Given the description of an element on the screen output the (x, y) to click on. 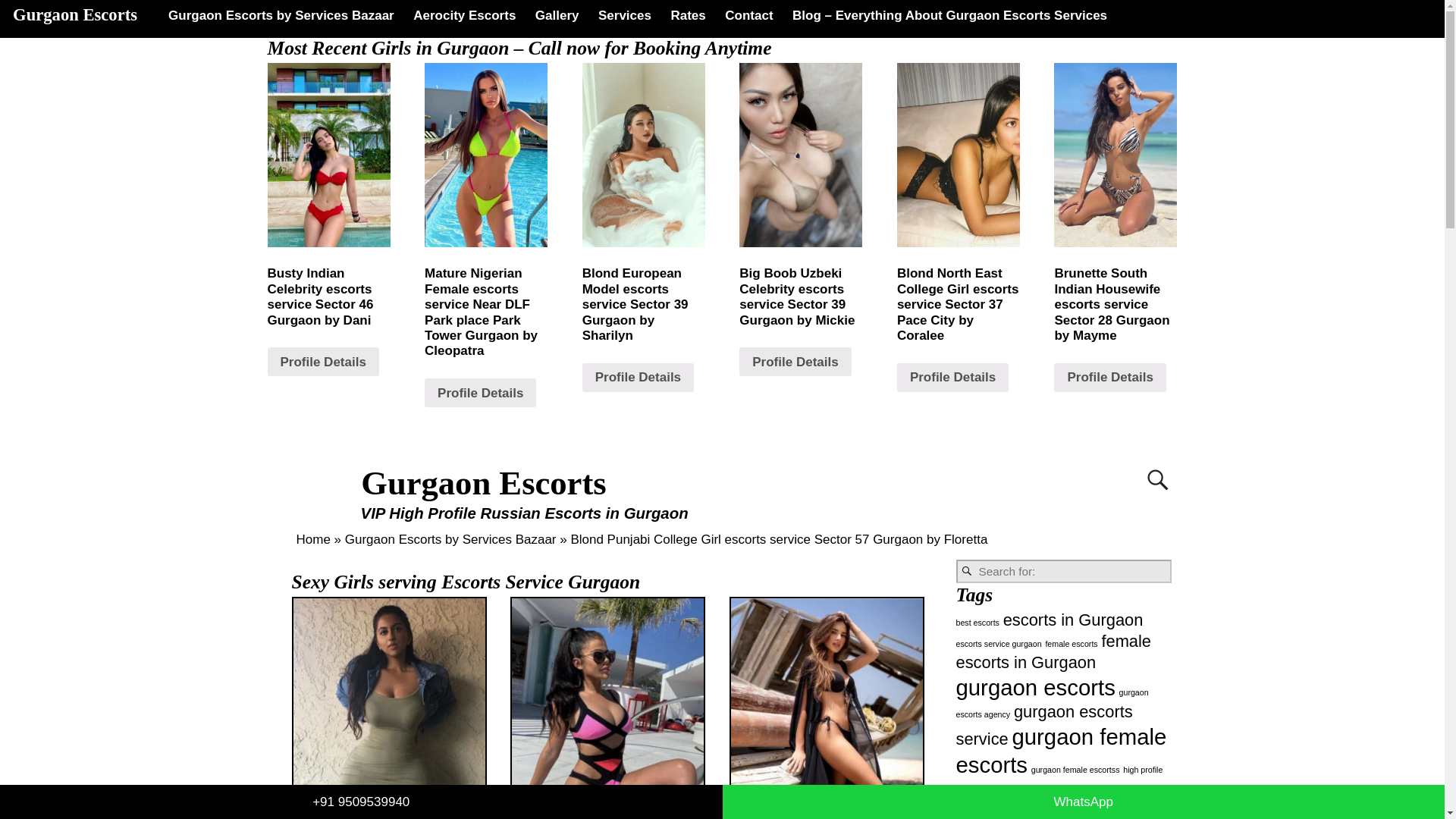
Profile Details (322, 361)
Profile Details (794, 361)
Gurgaon Escorts (483, 483)
Gurgaon Escorts by Services Bazaar (450, 539)
Gurgaon Escorts (74, 14)
Contact (749, 15)
Gurgaon Escorts (483, 483)
Gurgaon Escorts by Services Bazaar (280, 15)
Profile Details (952, 377)
Profile Details (480, 392)
